Given the description of an element on the screen output the (x, y) to click on. 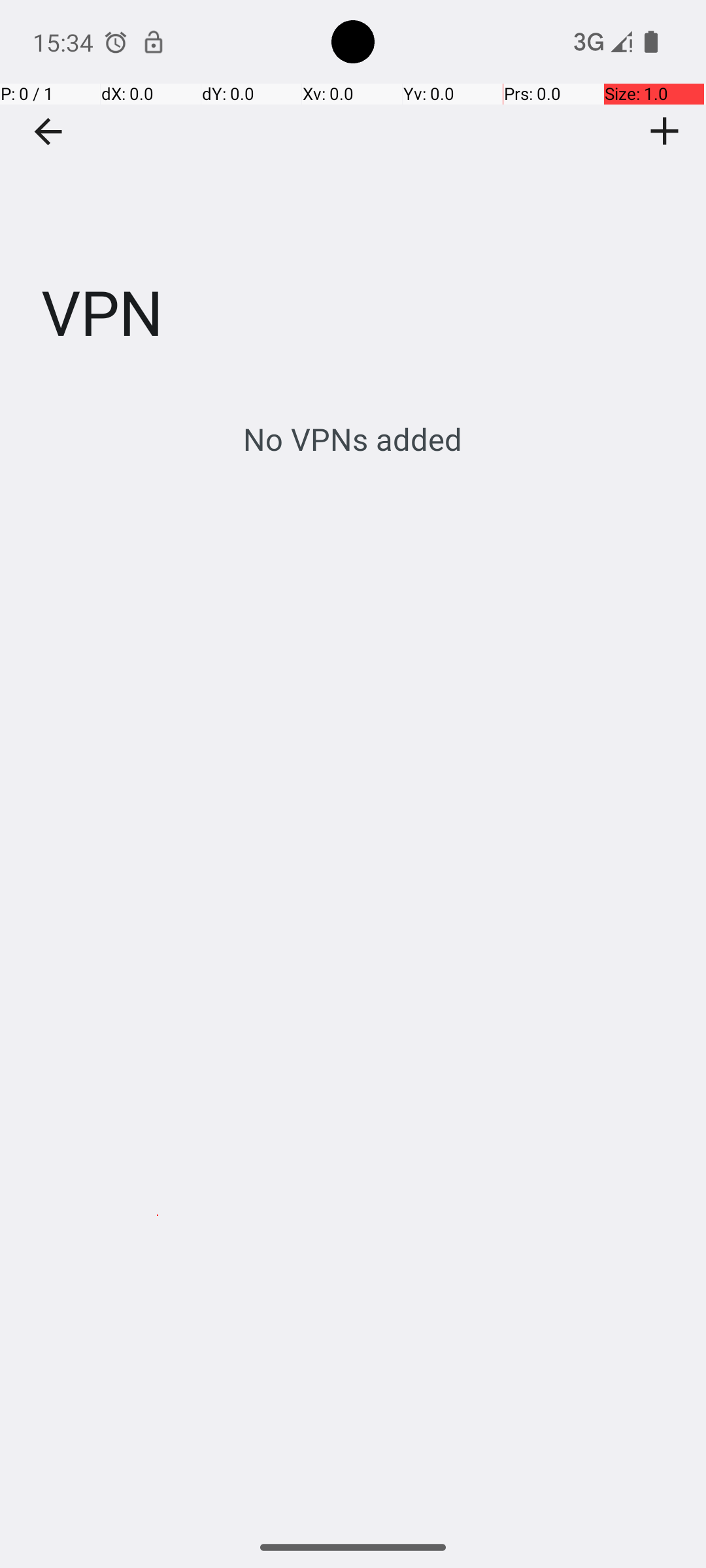
No VPNs added Element type: android.widget.TextView (352, 438)
Add VPN profile Element type: android.widget.TextView (664, 131)
